Given the description of an element on the screen output the (x, y) to click on. 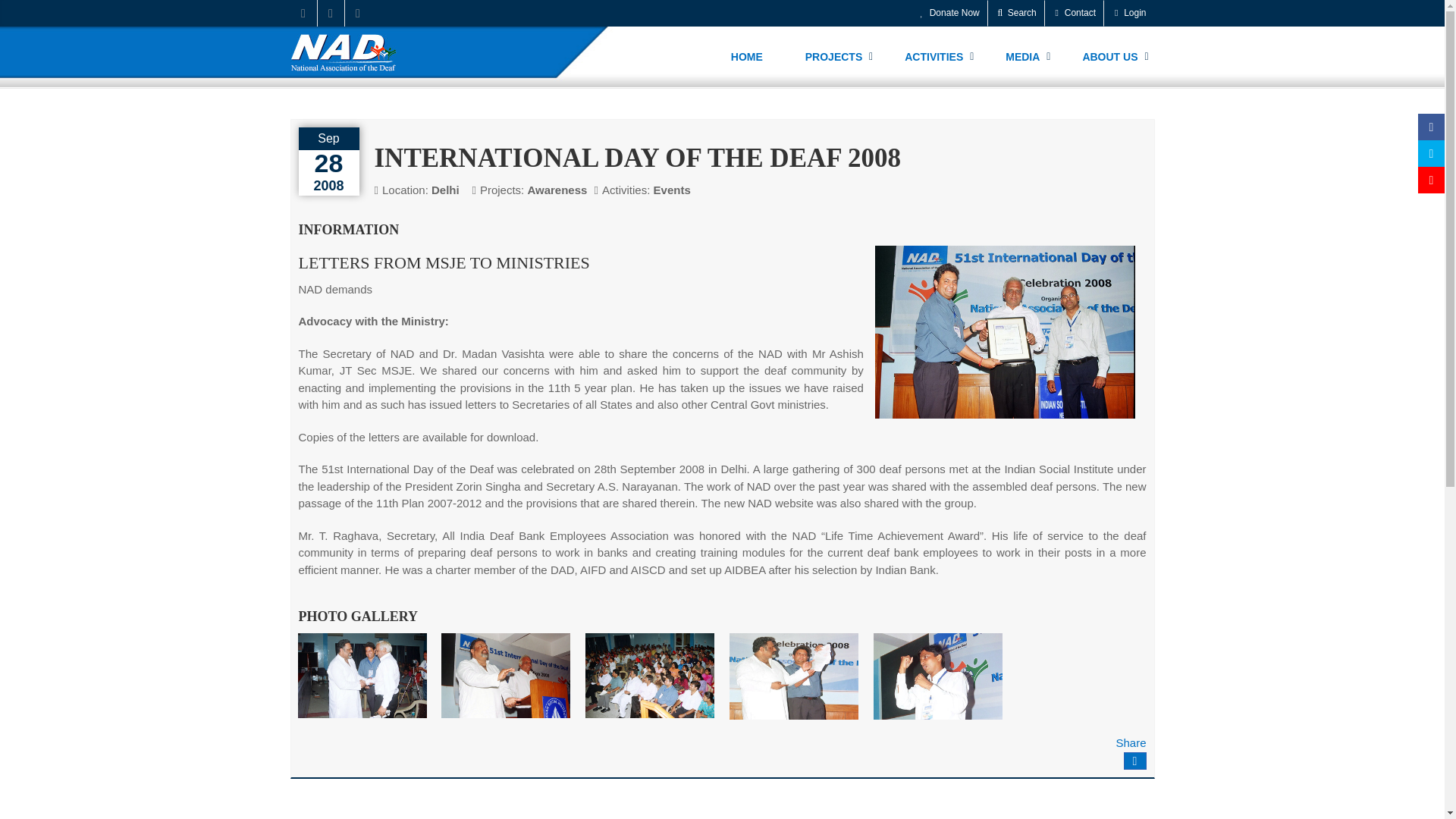
HOME (747, 56)
ACTIVITIES (933, 56)
Search (1016, 13)
PROJECTS (833, 56)
MEDIA (1022, 56)
Login (1128, 13)
Contact (1074, 13)
Donate Now (949, 13)
